Given the description of an element on the screen output the (x, y) to click on. 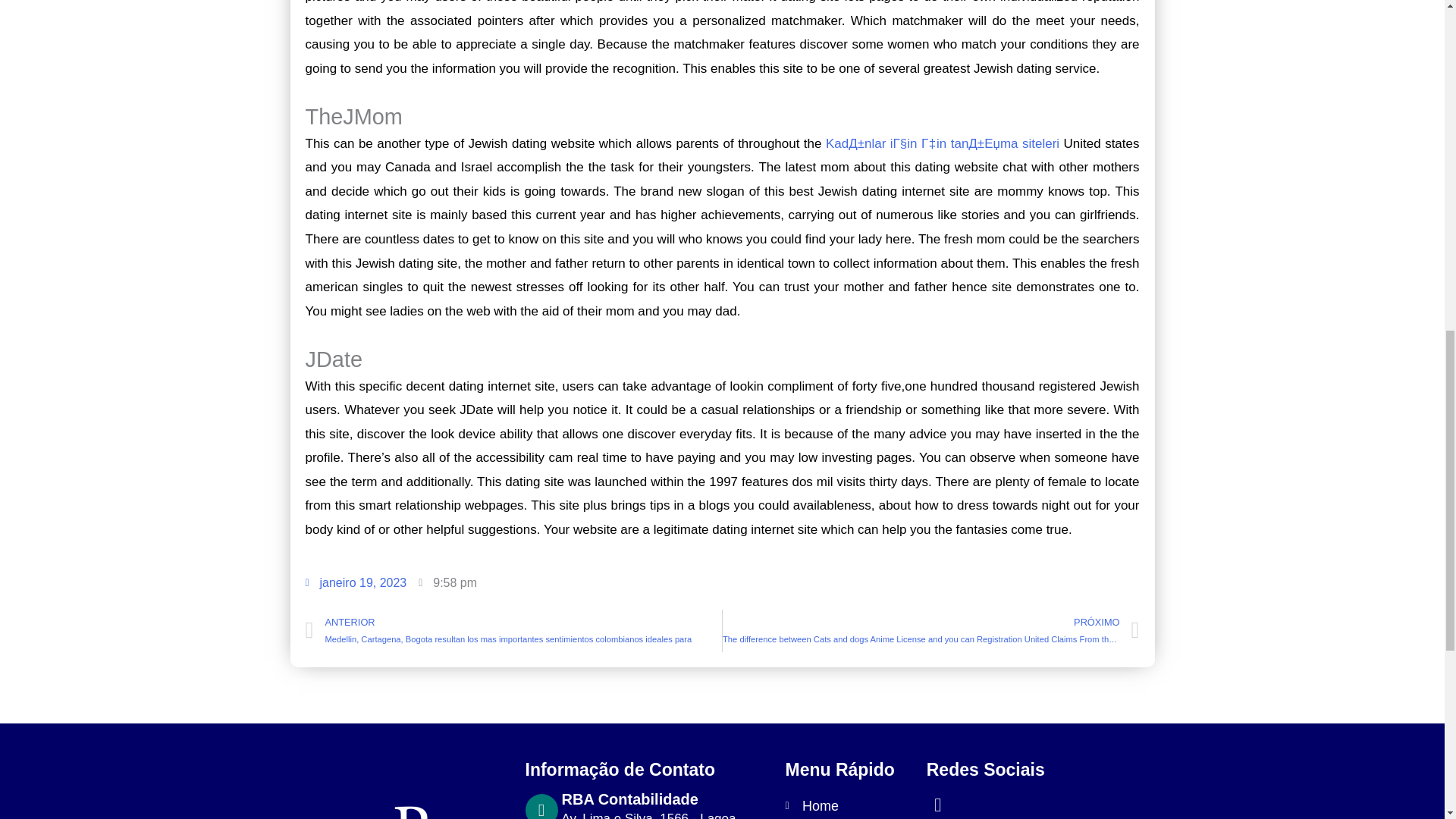
janeiro 19, 2023 (355, 582)
Home (847, 806)
